Given the description of an element on the screen output the (x, y) to click on. 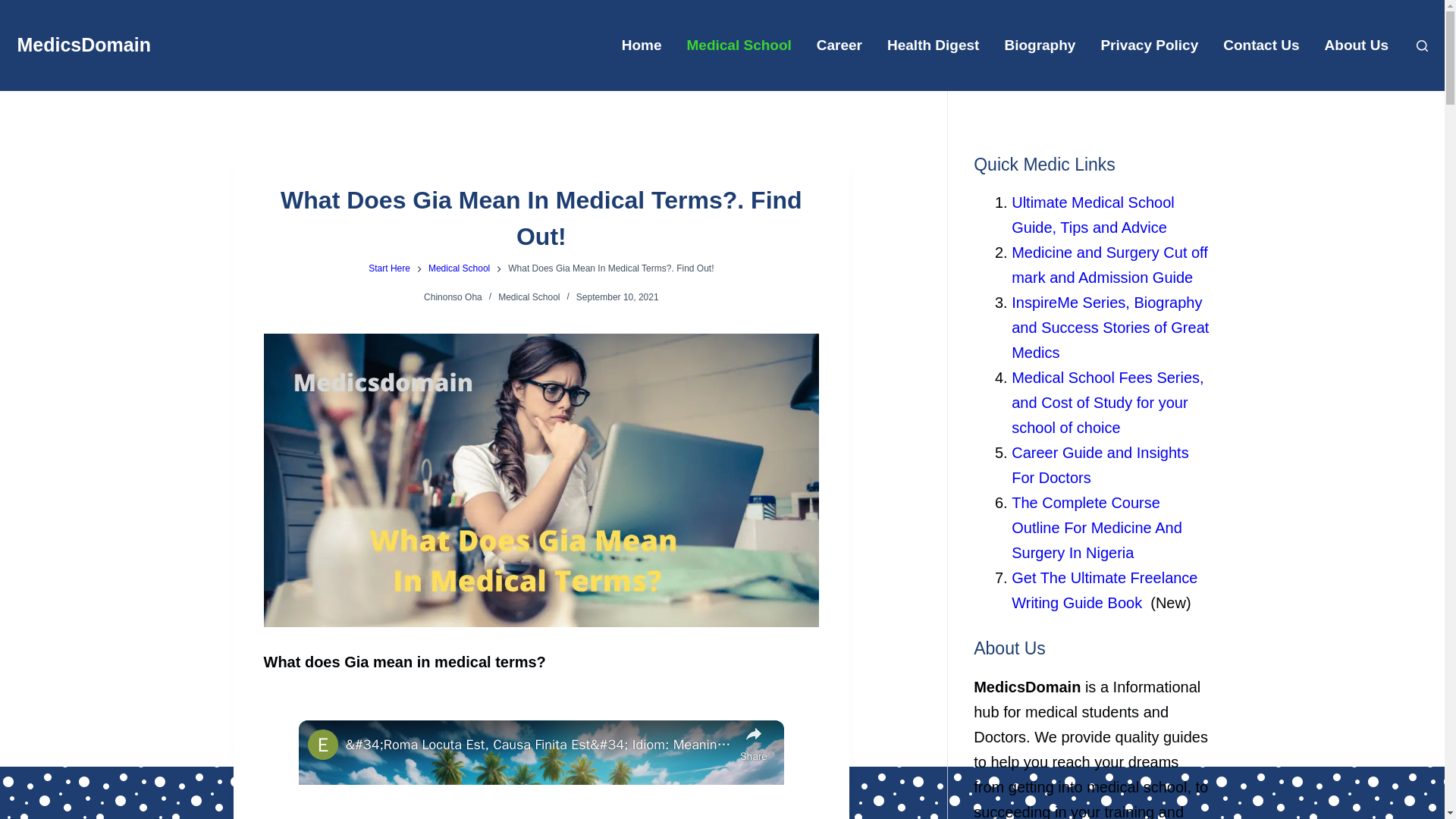
Medical School (738, 45)
Career (839, 45)
Skip to content (15, 7)
Privacy Policy (1149, 45)
Posts by Chinonso Oha (452, 296)
What Does Gia Mean In Medical Terms?. Find Out! (541, 217)
Medical School (528, 296)
Start Here (389, 268)
Contact Us (1261, 45)
share (753, 742)
Medical School (458, 268)
Chinonso Oha (452, 296)
Biography (1039, 45)
Health Digest (933, 45)
MedicsDomain (82, 44)
